Given the description of an element on the screen output the (x, y) to click on. 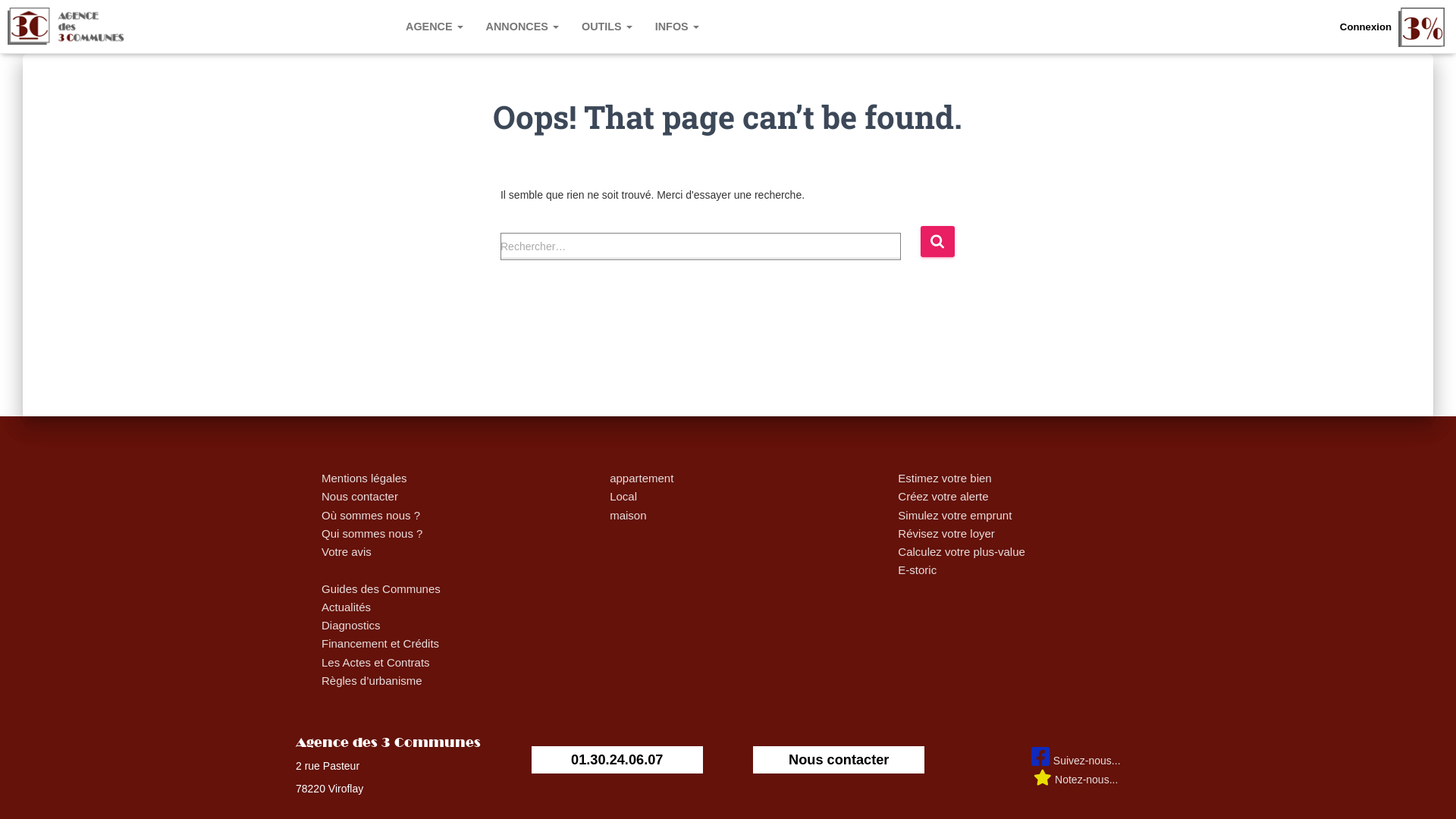
Votre avis Element type: text (346, 551)
Les Actes et Contrats Element type: text (375, 661)
INFOS Element type: text (676, 26)
Guides des Communes Element type: text (380, 588)
appartement Element type: text (641, 477)
OUTILS Element type: text (606, 26)
Rechercher Element type: text (937, 241)
E-storic Element type: text (916, 569)
Calculez votre plus-value Element type: text (961, 551)
Connexion Element type: text (1365, 26)
Estimez votre bien Element type: text (944, 477)
Local Element type: text (623, 495)
Simulez votre emprunt Element type: text (954, 514)
Suivez-nous... Element type: text (1075, 757)
Nous contacter Element type: text (359, 495)
Diagnostics Element type: text (350, 624)
maison Element type: text (627, 514)
Nous contacter Element type: text (838, 759)
Qui sommes nous ? Element type: text (371, 533)
ANNONCES Element type: text (522, 26)
Notez-nous... Element type: text (1075, 778)
AGENCE Element type: text (434, 26)
